Given the description of an element on the screen output the (x, y) to click on. 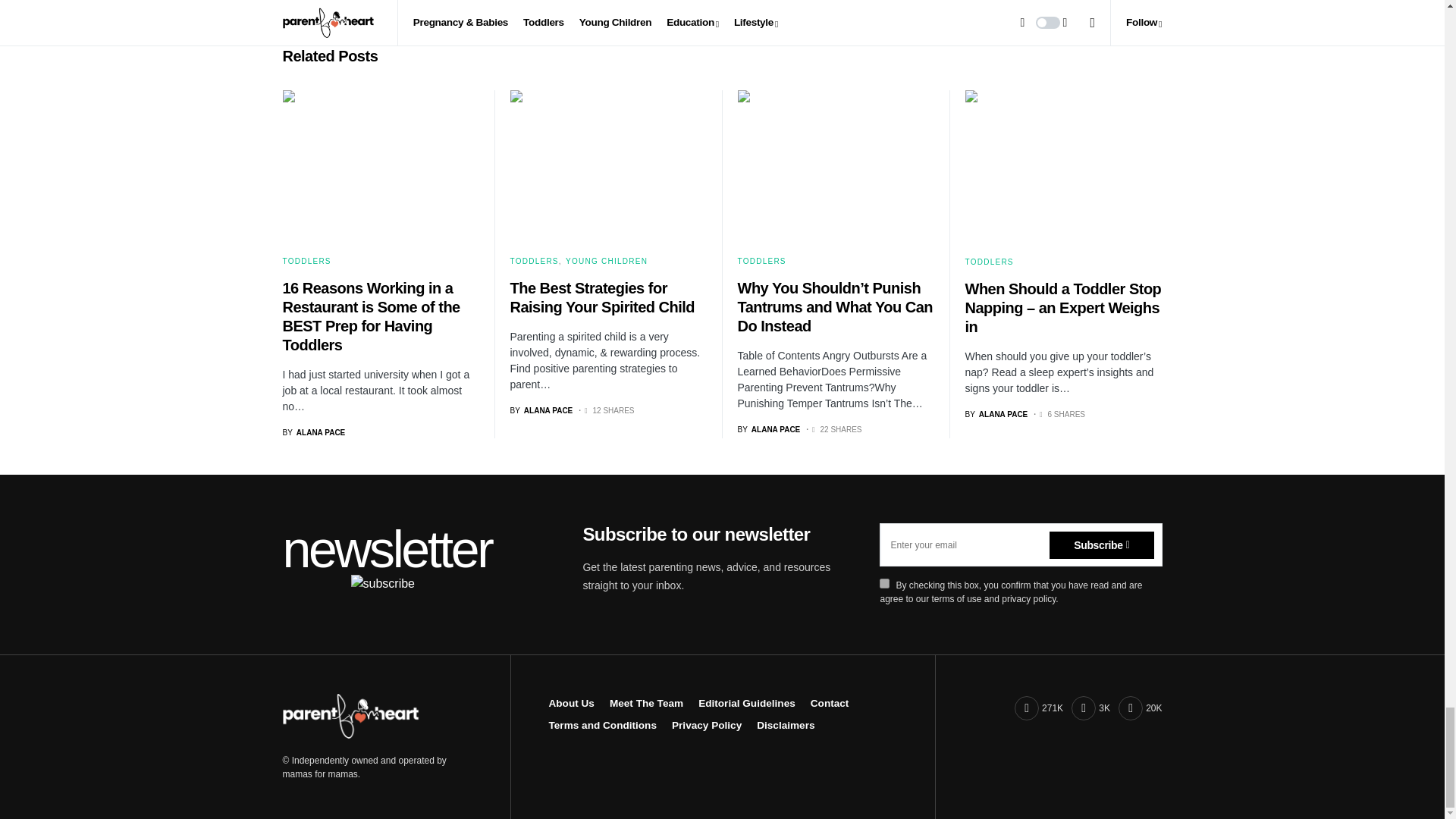
View all posts by Alana Pace (995, 414)
on (884, 583)
View all posts by Alana Pace (767, 429)
View all posts by Alana Pace (540, 410)
View all posts by Alana Pace (313, 432)
